Given the description of an element on the screen output the (x, y) to click on. 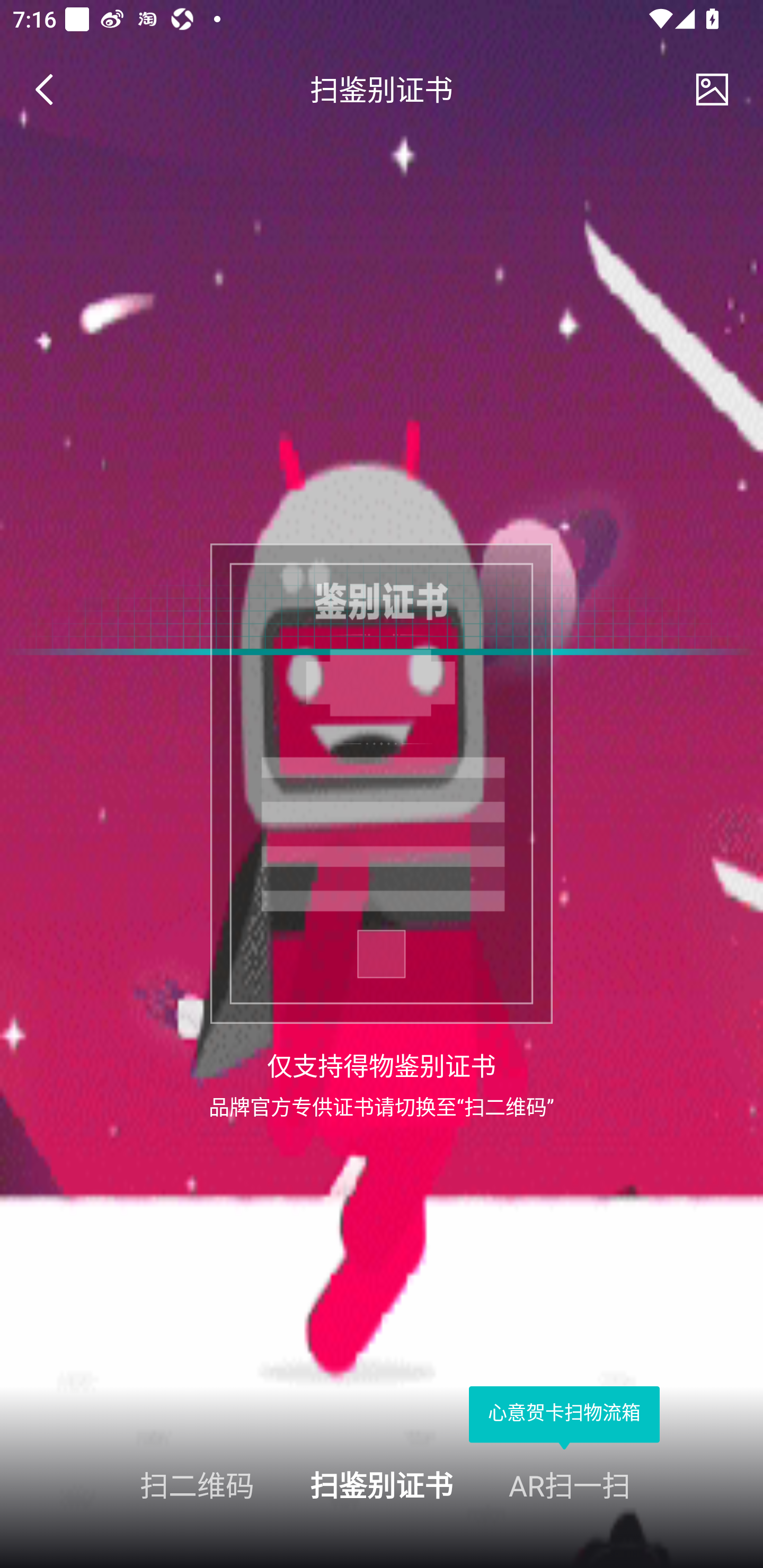
 (51, 89)
 (711, 89)
扫二维码 (127, 1484)
扫鉴别证书 (381, 1484)
AR扫一扫 (635, 1484)
